Given the description of an element on the screen output the (x, y) to click on. 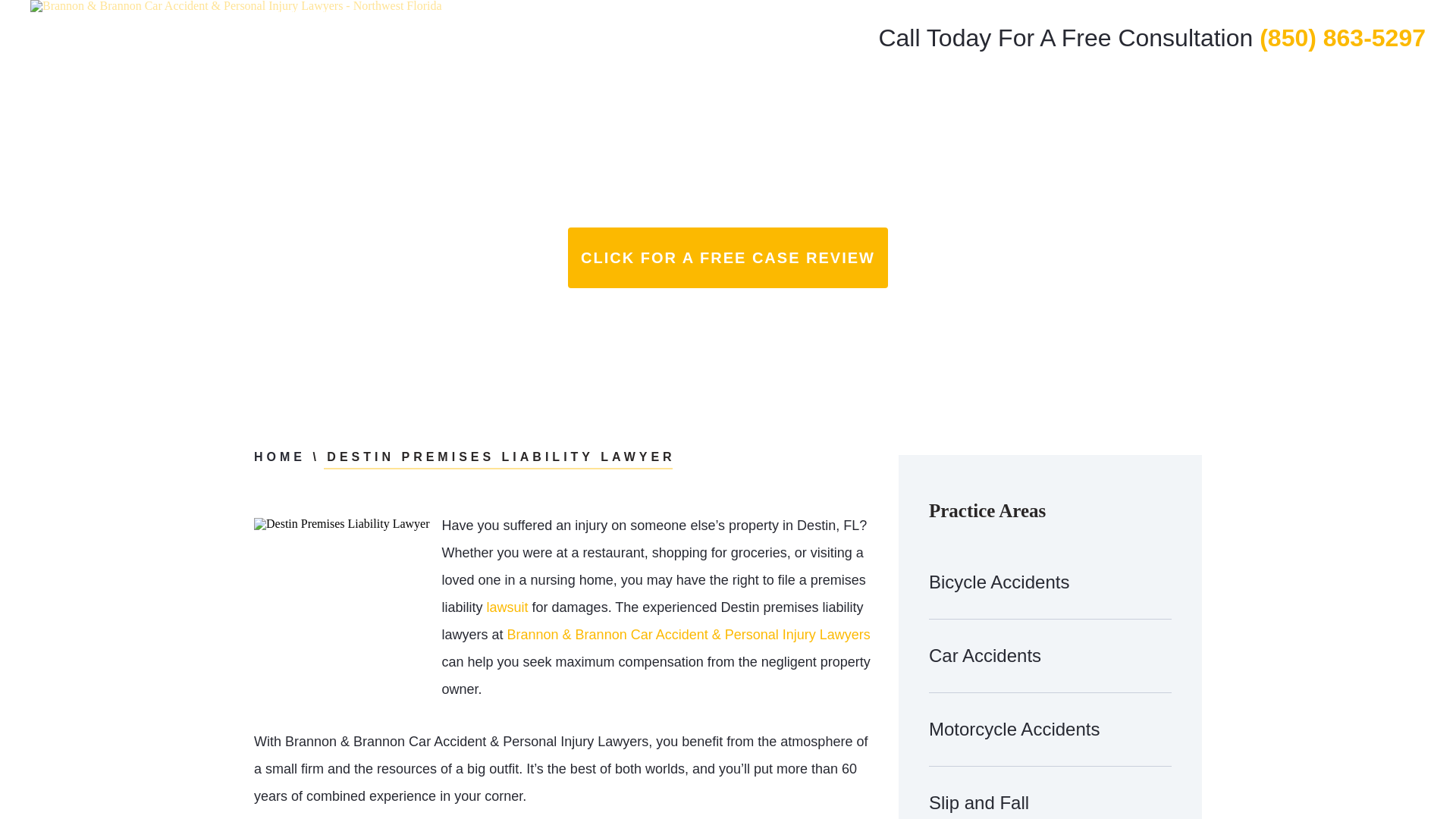
Practice Areas (1090, 97)
Resources (1284, 97)
Contact Us (1371, 97)
lawsuit (507, 607)
Home (930, 97)
CLICK FOR A FREE CASE REVIEW (727, 257)
Cities Served (1192, 97)
CLICK FOR A FREE CASE REVIEW (727, 257)
About Us (998, 97)
HOME (279, 456)
